Given the description of an element on the screen output the (x, y) to click on. 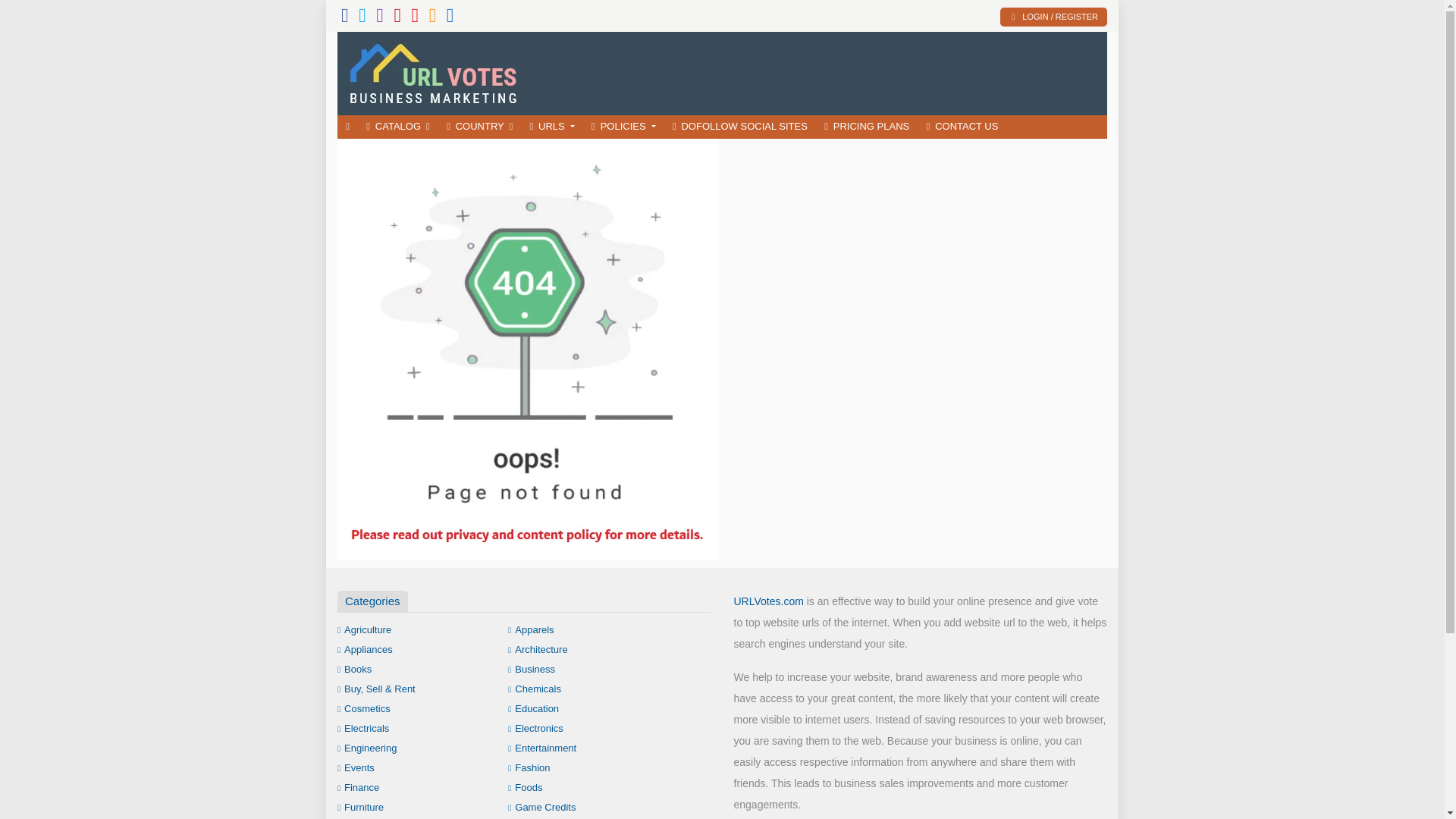
COUNTRY (479, 126)
Social Media Platform to Improve Your Brand Popularity (447, 71)
URLS (552, 126)
CATALOG (398, 126)
